Given the description of an element on the screen output the (x, y) to click on. 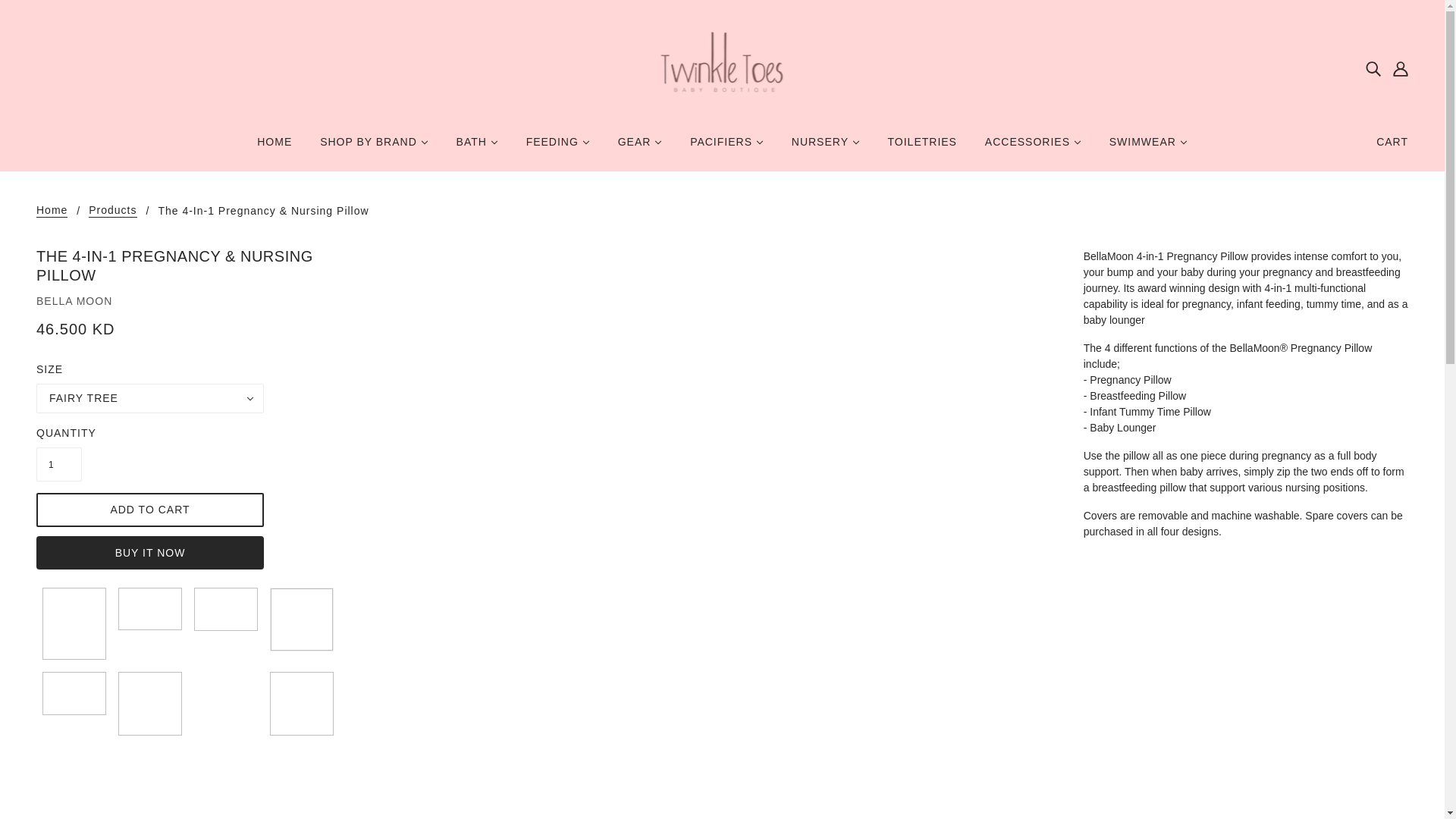
1 (58, 464)
Twinkle Toes Baby Boutique (722, 67)
